Given the description of an element on the screen output the (x, y) to click on. 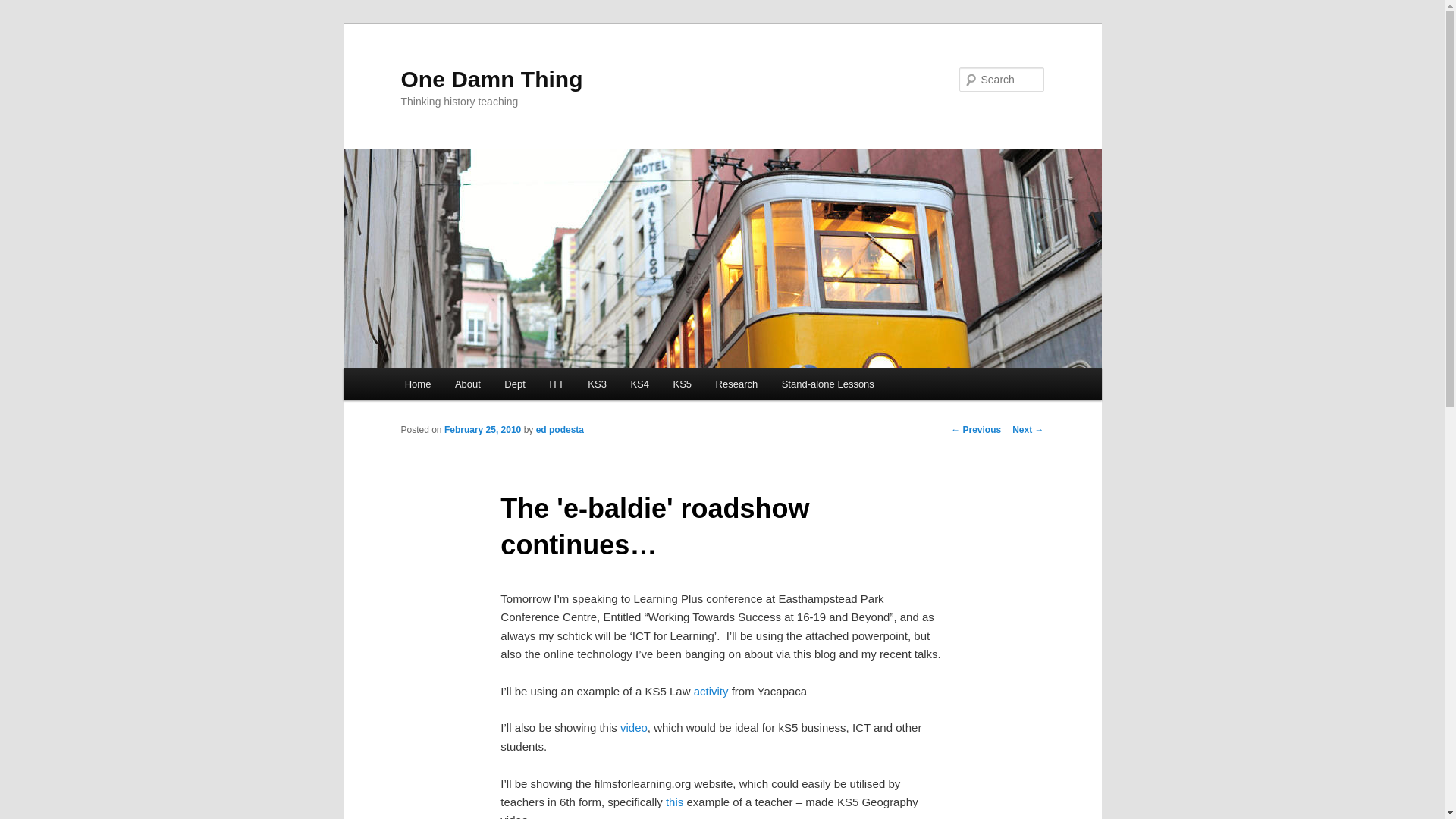
KS5 (682, 383)
KS4 (639, 383)
Dept (515, 383)
View all posts by ed podesta (559, 429)
KS3 (597, 383)
Home (417, 383)
One Damn Thing (491, 78)
9:58 pm (482, 429)
About (467, 383)
Search (24, 8)
Research (736, 383)
ITT (556, 383)
